Given the description of an element on the screen output the (x, y) to click on. 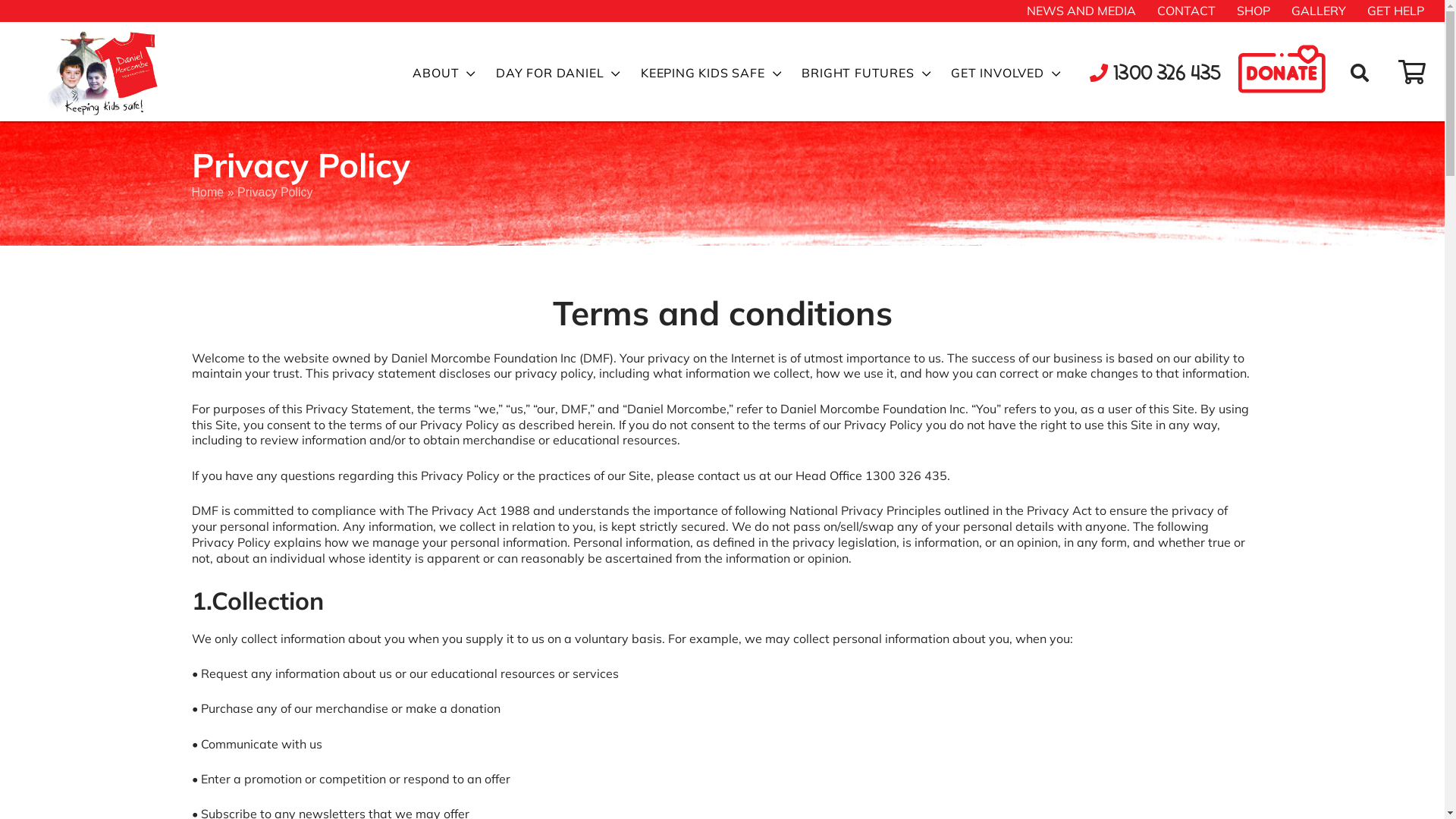
1300 326 435 Element type: text (905, 475)
CONTACT Element type: text (1186, 10)
DAY FOR DANIEL Element type: text (558, 74)
GET HELP Element type: text (1395, 10)
The Daniel Morcombe Foundation Element type: text (61, 125)
View your shopping cart Element type: hover (1411, 72)
GET INVOLVED Element type: text (1005, 74)
SHOP Element type: text (1253, 10)
KEEPING KIDS SAFE Element type: text (710, 74)
NEWS AND MEDIA Element type: text (1080, 10)
GALLERY Element type: text (1318, 10)
Donate Now Element type: hover (1289, 74)
Site Search Element type: hover (1362, 74)
1300 326 435 Element type: text (1154, 74)
BRIGHT FUTURES Element type: text (866, 74)
Home Element type: text (207, 191)
ABOUT Element type: text (444, 74)
